Given the description of an element on the screen output the (x, y) to click on. 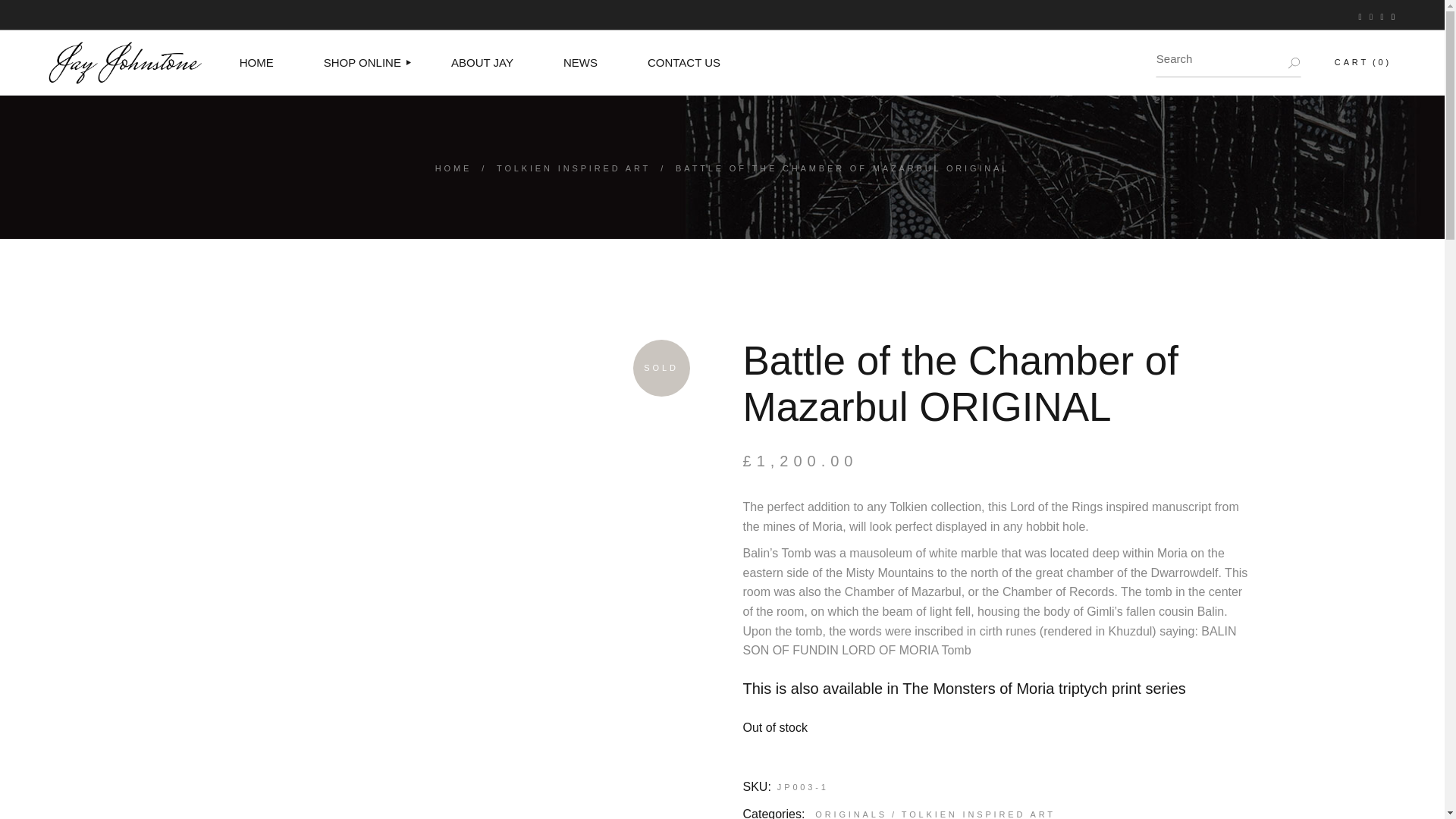
ABOUT JAY (482, 62)
HOME (256, 62)
SHOP ONLINE (362, 62)
NEWS (579, 62)
CONTACT US (683, 62)
